Given the description of an element on the screen output the (x, y) to click on. 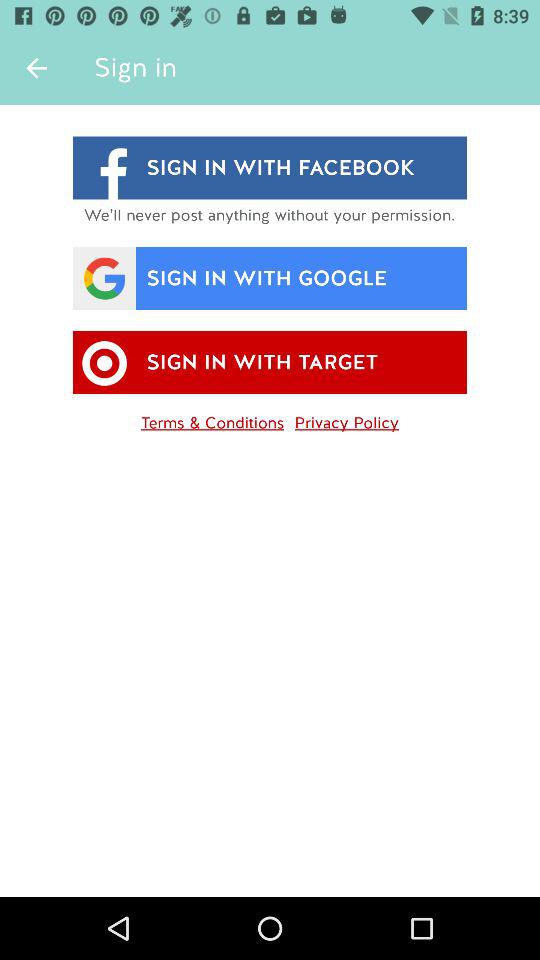
select the item next to the sign in item (36, 68)
